Given the description of an element on the screen output the (x, y) to click on. 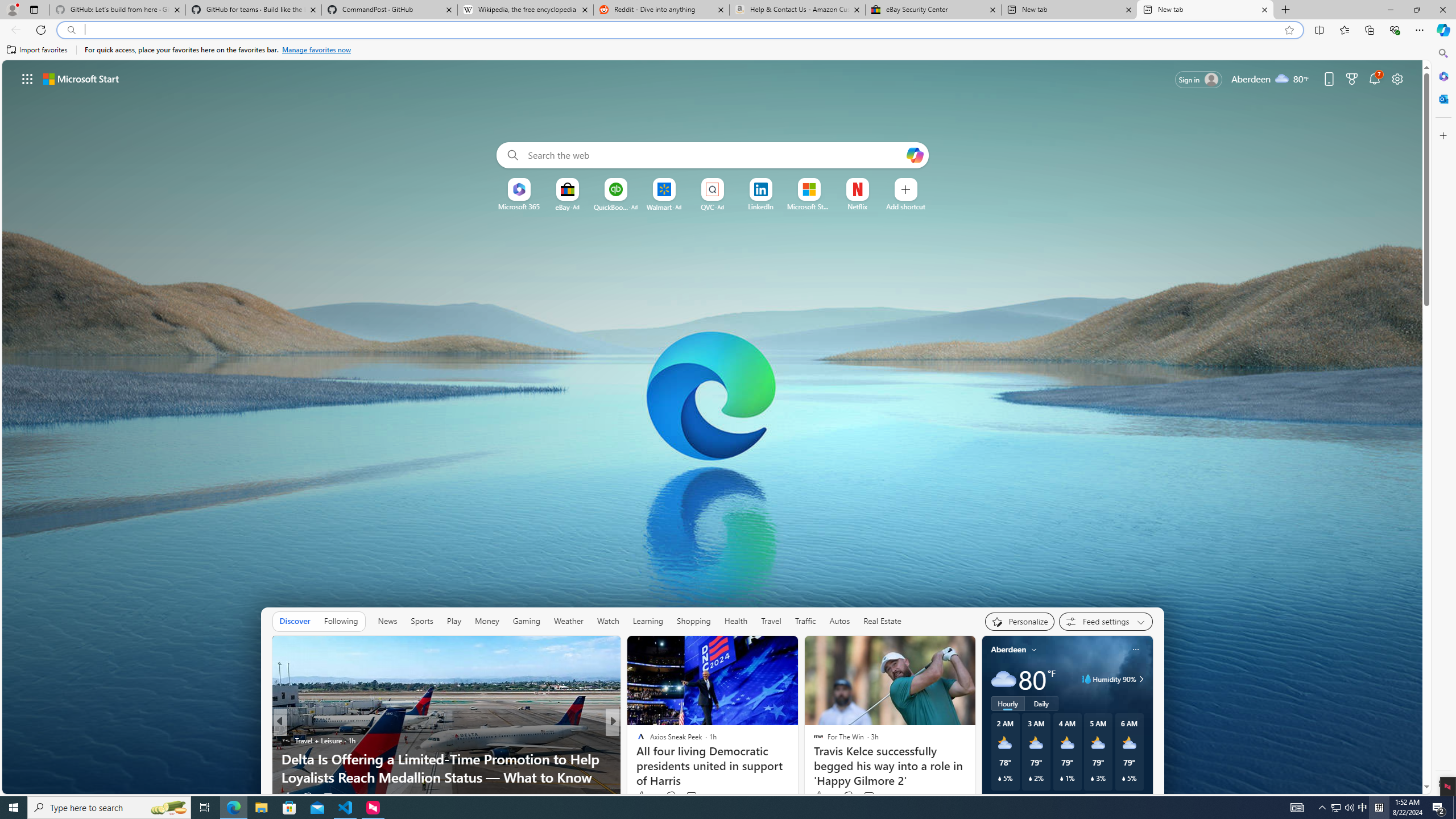
View comments 42 Comment (687, 797)
Hourly (1007, 703)
17 Like (645, 795)
Traffic (804, 621)
View comments 25 Comment (687, 797)
Sports (421, 621)
